Given the description of an element on the screen output the (x, y) to click on. 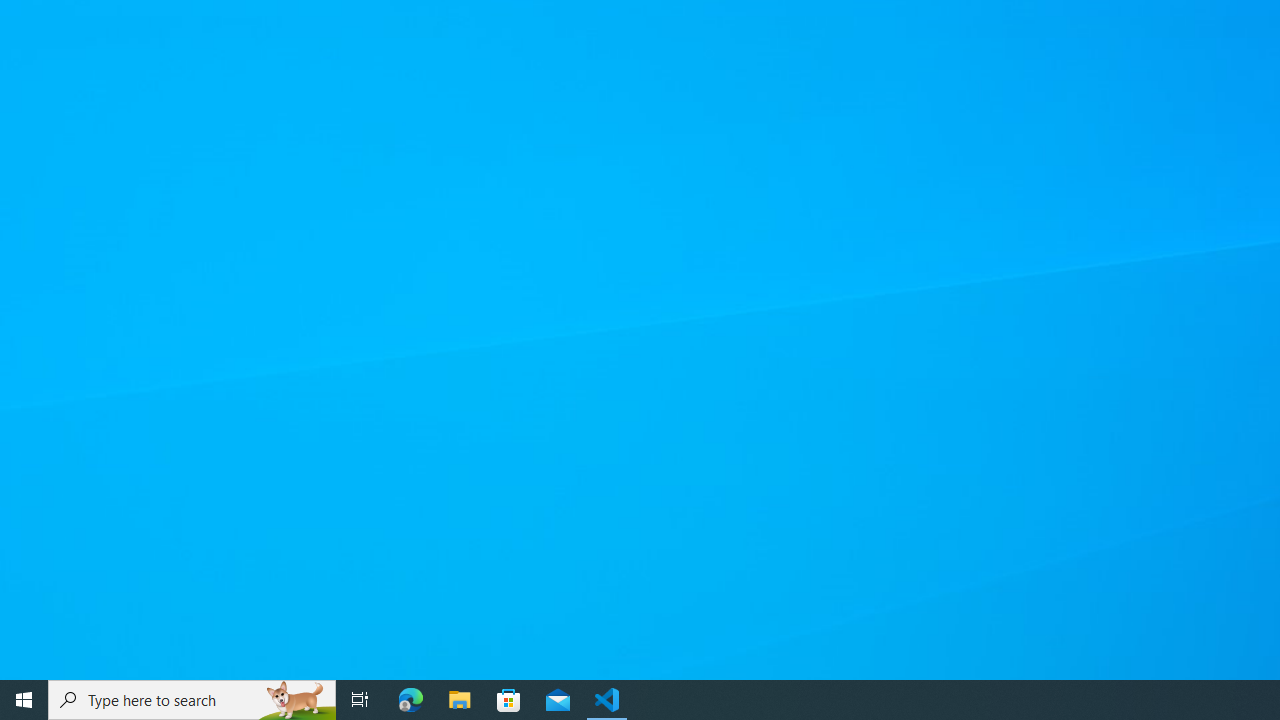
File Explorer (460, 699)
Visual Studio Code - 1 running window (607, 699)
Microsoft Store (509, 699)
Microsoft Edge (411, 699)
Start (24, 699)
Type here to search (191, 699)
Search highlights icon opens search home window (295, 699)
Task View (359, 699)
